Given the description of an element on the screen output the (x, y) to click on. 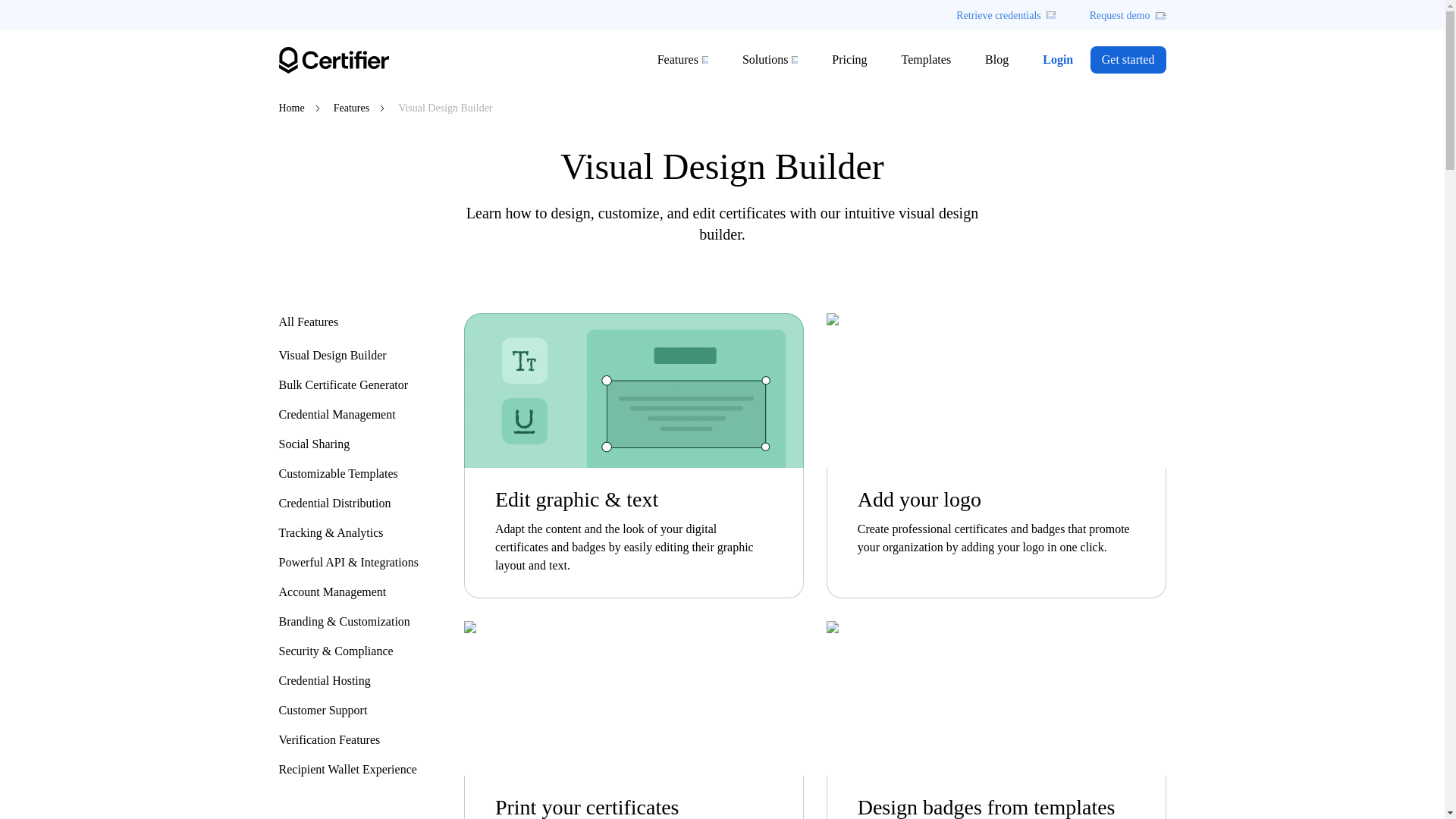
Get started (1128, 59)
Retrieve credentials (1005, 15)
Login (1057, 59)
All Features (349, 321)
Features (678, 59)
Features (351, 108)
Get started (1128, 59)
Bulk Certificate Generator  (349, 384)
Add your logo - Certifier features (996, 389)
Credential Distribution (349, 503)
